Given the description of an element on the screen output the (x, y) to click on. 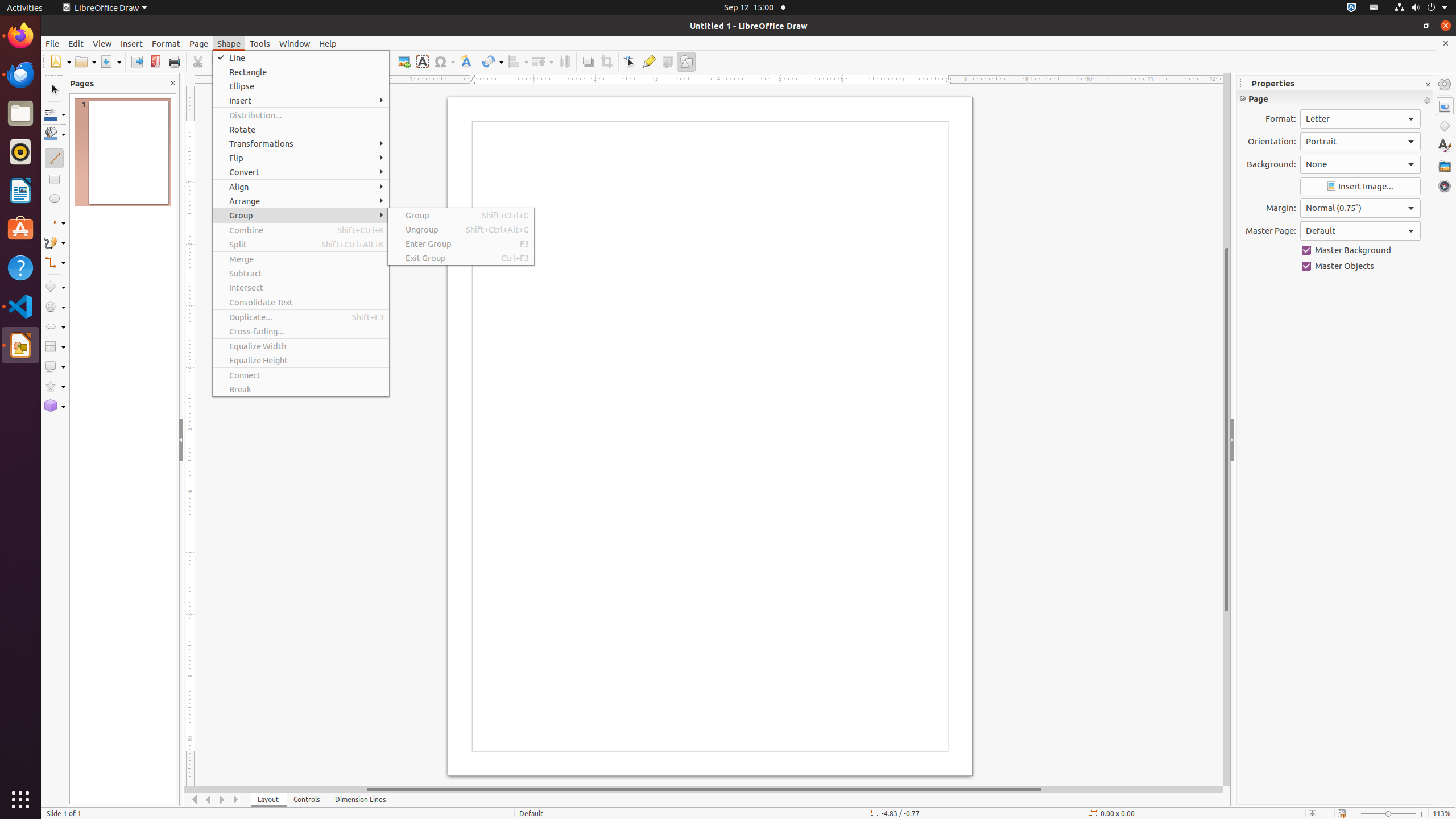
Zoom & Pan Element type: push-button (379, 61)
Close Sidebar Deck Element type: push-button (1427, 84)
Arrange Element type: push-button (542, 61)
Files Element type: push-button (20, 113)
Equalize Height Element type: menu-item (300, 360)
